Given the description of an element on the screen output the (x, y) to click on. 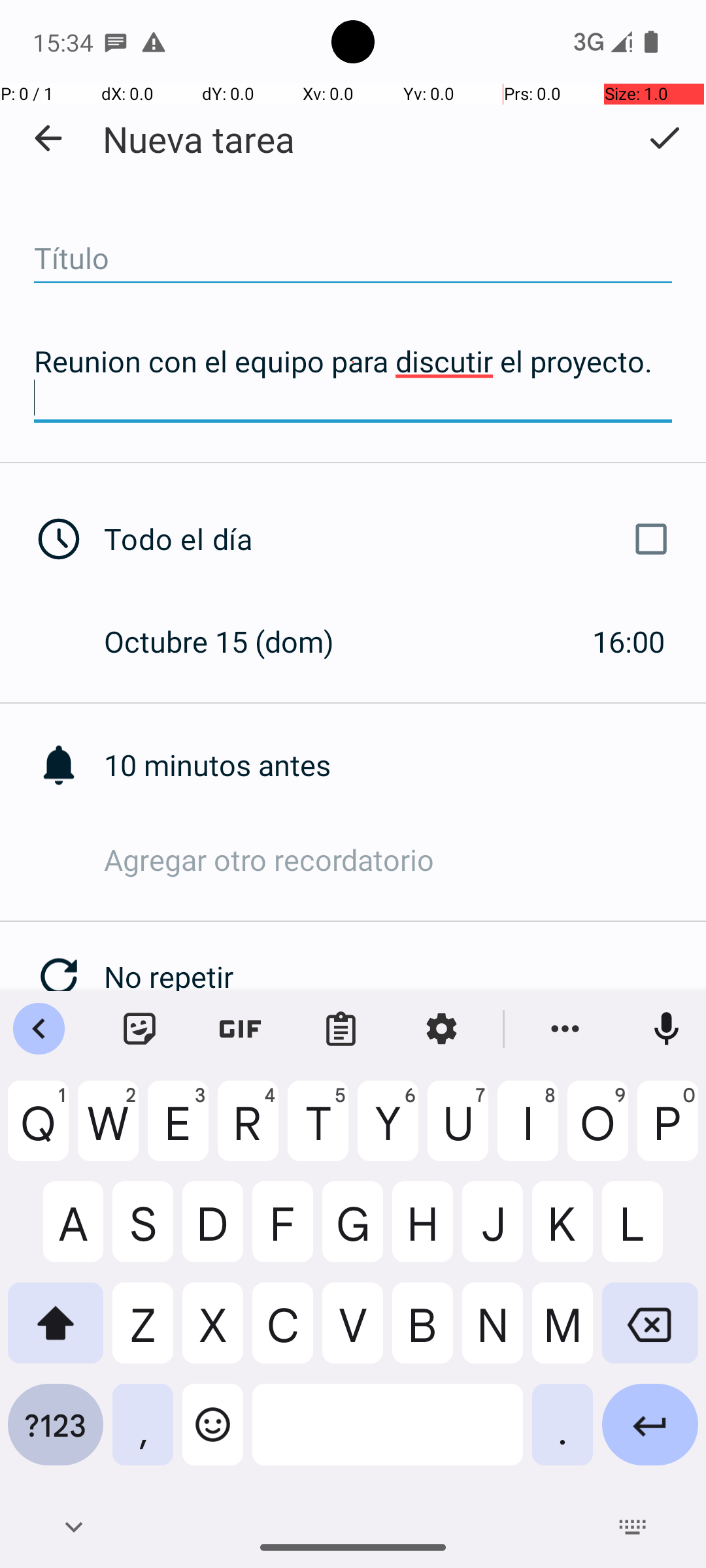
Nueva tarea Element type: android.widget.TextView (198, 138)
Guardar Element type: android.widget.Button (664, 137)
Título Element type: android.widget.EditText (352, 258)
Reunion con el equipo para discutir el proyecto.
 Element type: android.widget.EditText (352, 379)
Octubre 15 (dom) Element type: android.widget.TextView (232, 640)
16:00 Element type: android.widget.TextView (628, 640)
10 minutos antes Element type: android.widget.TextView (404, 764)
Agregar otro recordatorio Element type: android.widget.TextView (404, 859)
No repetir Element type: android.widget.TextView (404, 976)
Todo el día Element type: android.widget.CheckBox (390, 538)
